Given the description of an element on the screen output the (x, y) to click on. 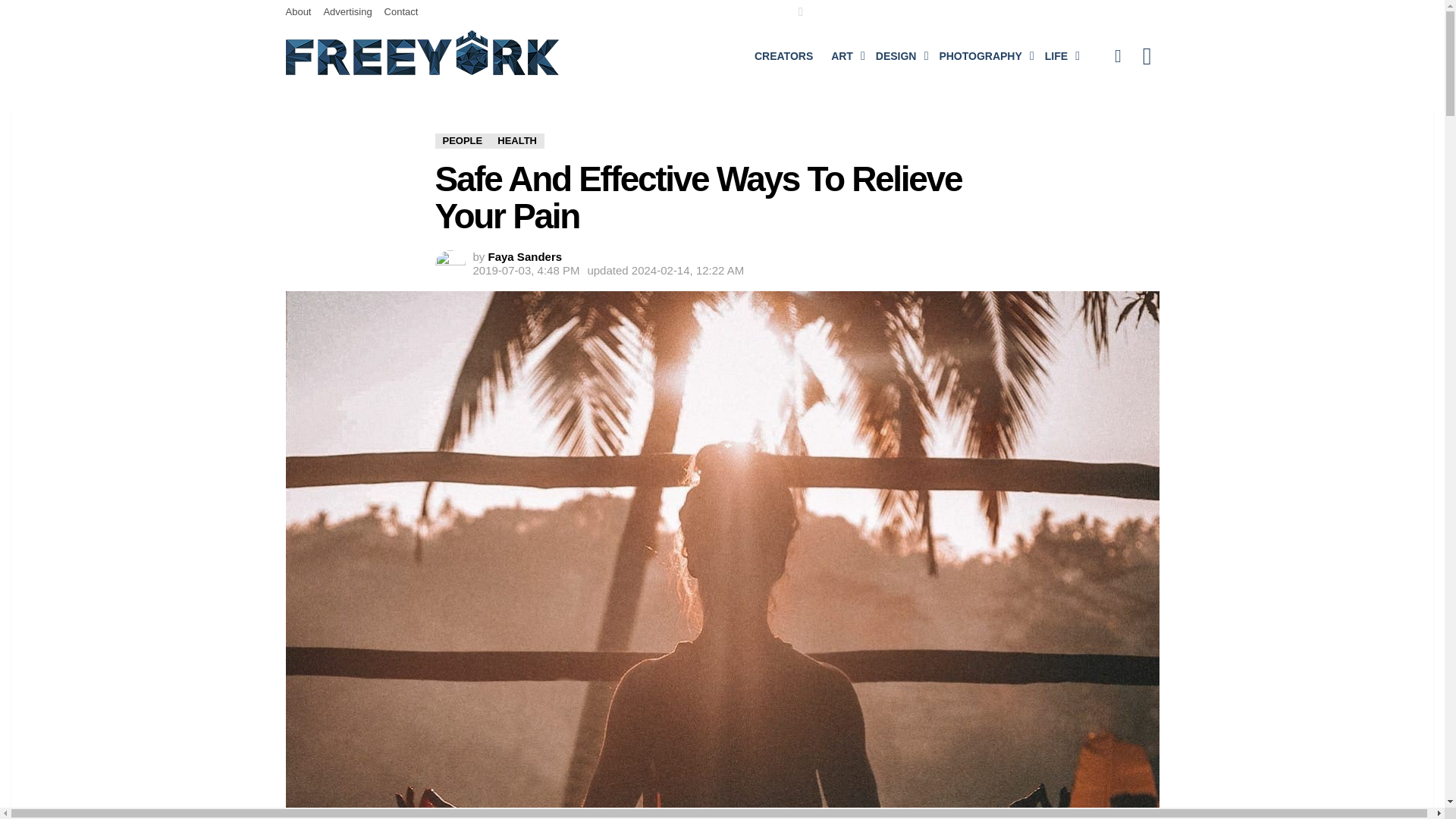
Contact (401, 12)
PHOTOGRAPHY (982, 56)
Advertising (347, 12)
LIFE (1058, 56)
About (298, 12)
CREATORS (783, 56)
Posts by Faya Sanders (524, 256)
ART (844, 56)
DESIGN (897, 56)
